Given the description of an element on the screen output the (x, y) to click on. 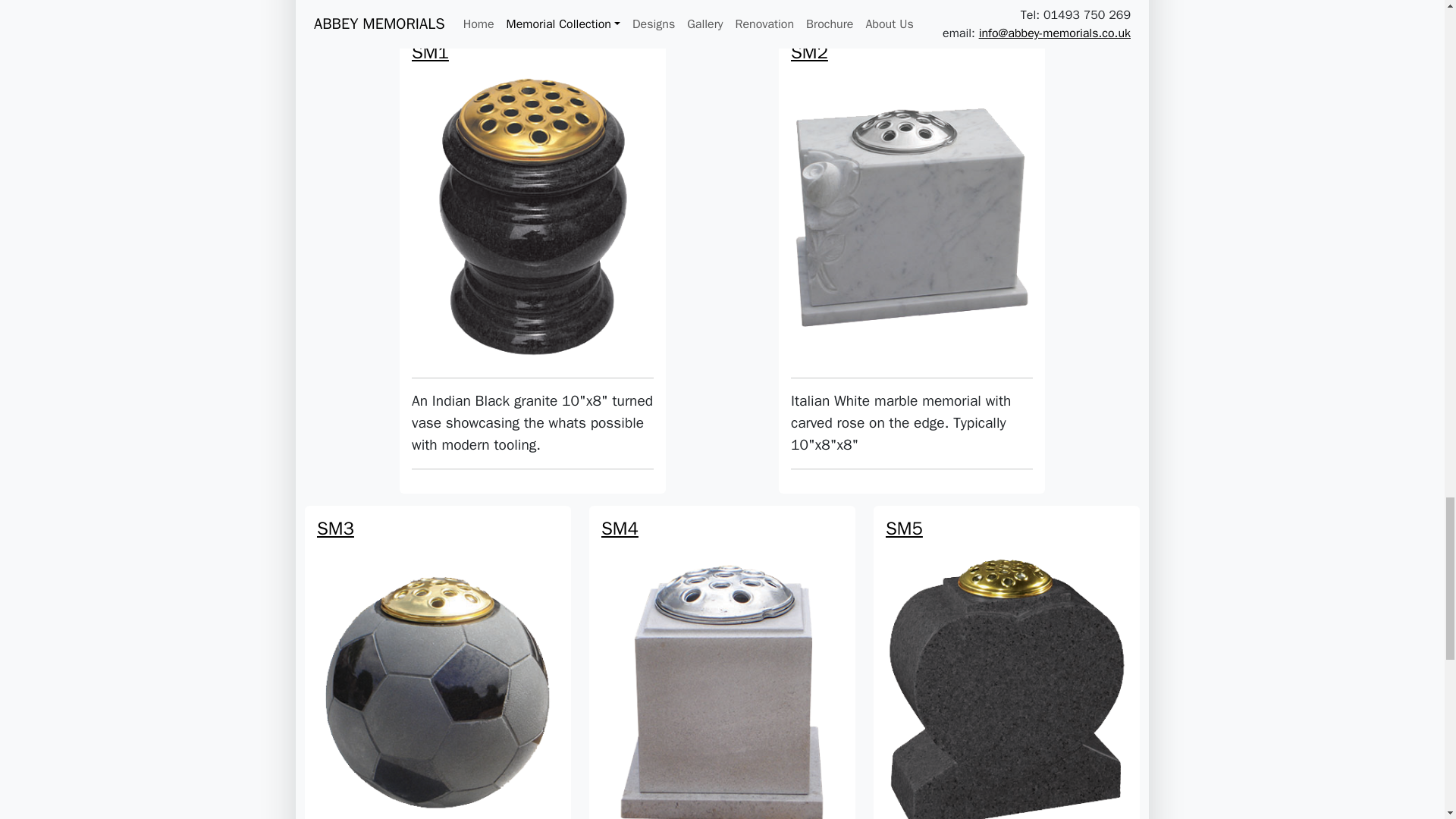
SM4 (722, 609)
SM5 (1005, 609)
SM1 (532, 132)
SM2 (911, 132)
SM3 (438, 609)
